Given the description of an element on the screen output the (x, y) to click on. 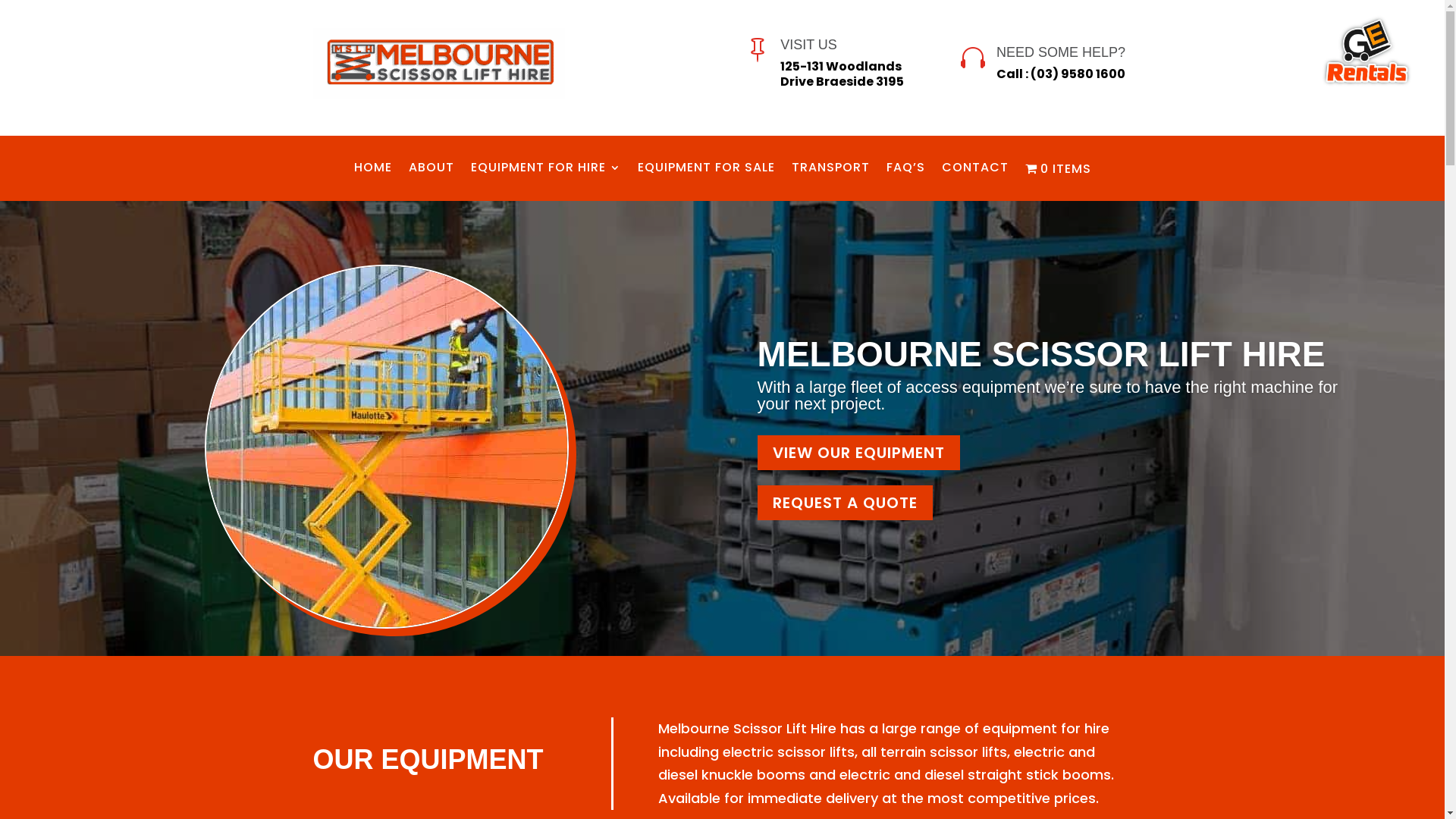
ABOUT Element type: text (430, 171)
0 ITEMS Element type: text (1058, 171)
VIEW OUR EQUIPMENT Element type: text (858, 452)
(03) 9580 1600 Element type: text (1077, 73)
GERentals Logo Element type: hover (1366, 53)
TRANSPORT Element type: text (830, 171)
EQUIPMENT FOR SALE Element type: text (705, 171)
Melbourne Scissor Lift Hire logo Element type: hover (438, 63)
HOME Element type: text (372, 171)
REQUEST A QUOTE Element type: text (844, 502)
CONTACT Element type: text (974, 171)
EQUIPMENT FOR HIRE Element type: text (545, 171)
MELBOURNE SCISSOR LIFT HIRE Element type: text (1041, 353)
